Given the description of an element on the screen output the (x, y) to click on. 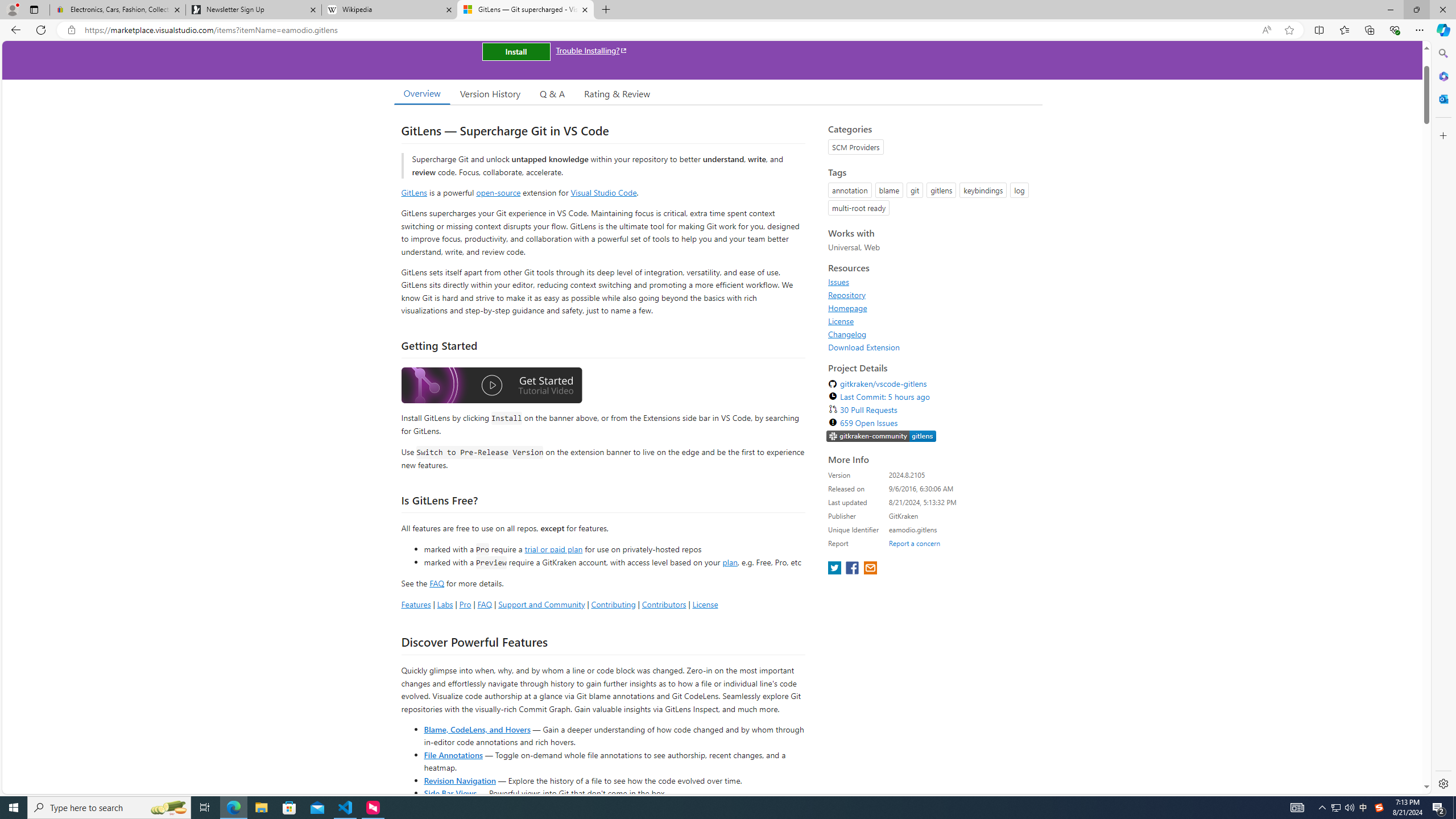
Download Extension (863, 346)
Features (415, 603)
Wikipedia (390, 9)
Watch the GitLens Getting Started video (491, 385)
https://slack.gitkraken.com// (881, 436)
Changelog (847, 333)
Rating & Review (618, 92)
